Given the description of an element on the screen output the (x, y) to click on. 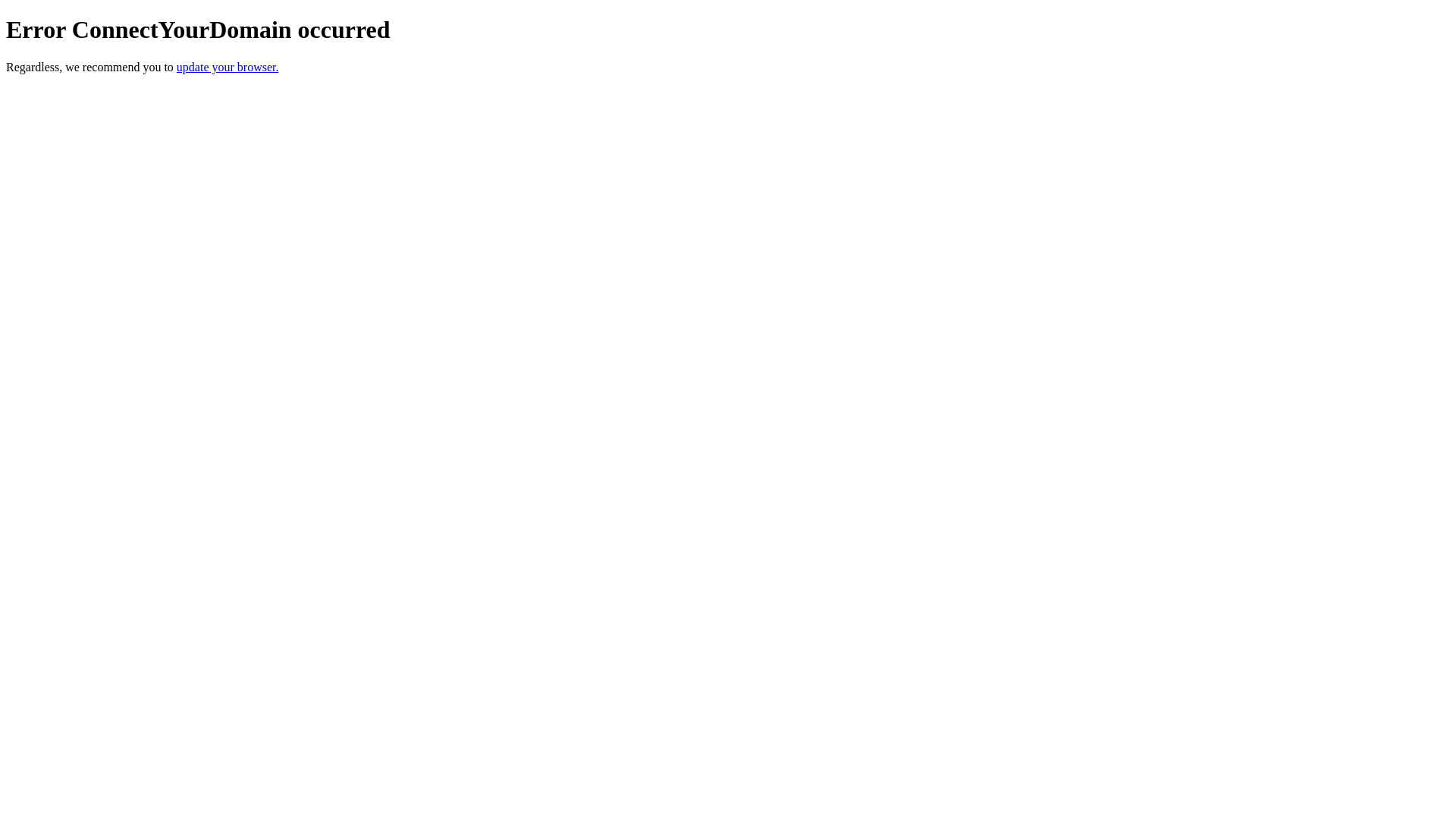
update your browser. Element type: text (227, 66)
